Given the description of an element on the screen output the (x, y) to click on. 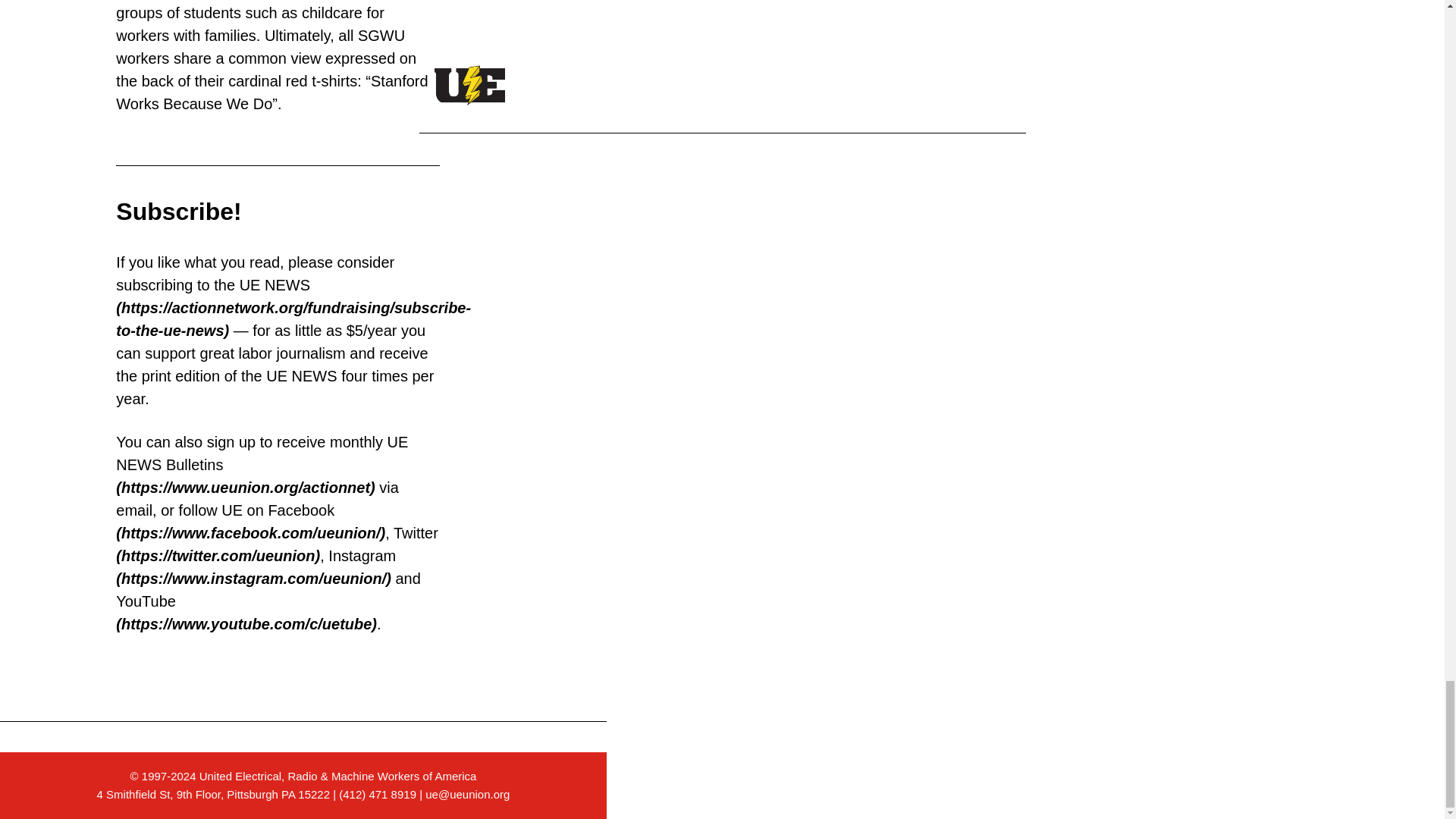
Instagram (256, 567)
subscribing to the UE NEWS (293, 307)
YouTube (246, 612)
Twitter (277, 544)
sign up to receive monthly UE NEWS Bulletins (261, 465)
Facebook (250, 521)
